Given the description of an element on the screen output the (x, y) to click on. 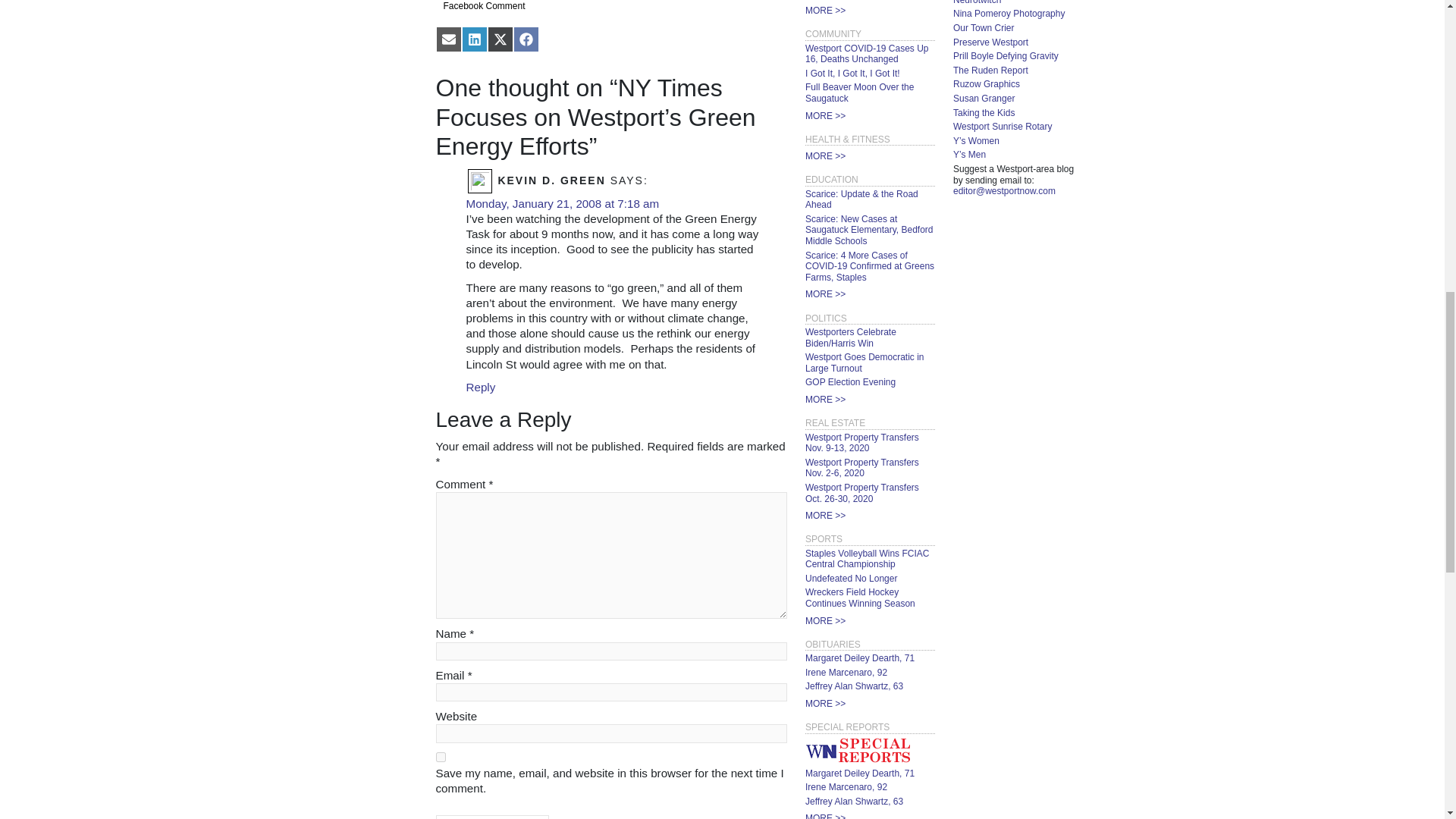
Monday, January 21, 2008 at 7:18 am (562, 203)
Post Comment (491, 816)
Post Comment (491, 816)
Share on LinkedIn (473, 39)
yes (440, 757)
Share on Email (448, 39)
Reply (480, 386)
Westport COVID-19 Cases Up 16, Deaths Unchanged (866, 54)
Share on Facebook (525, 39)
